Given the description of an element on the screen output the (x, y) to click on. 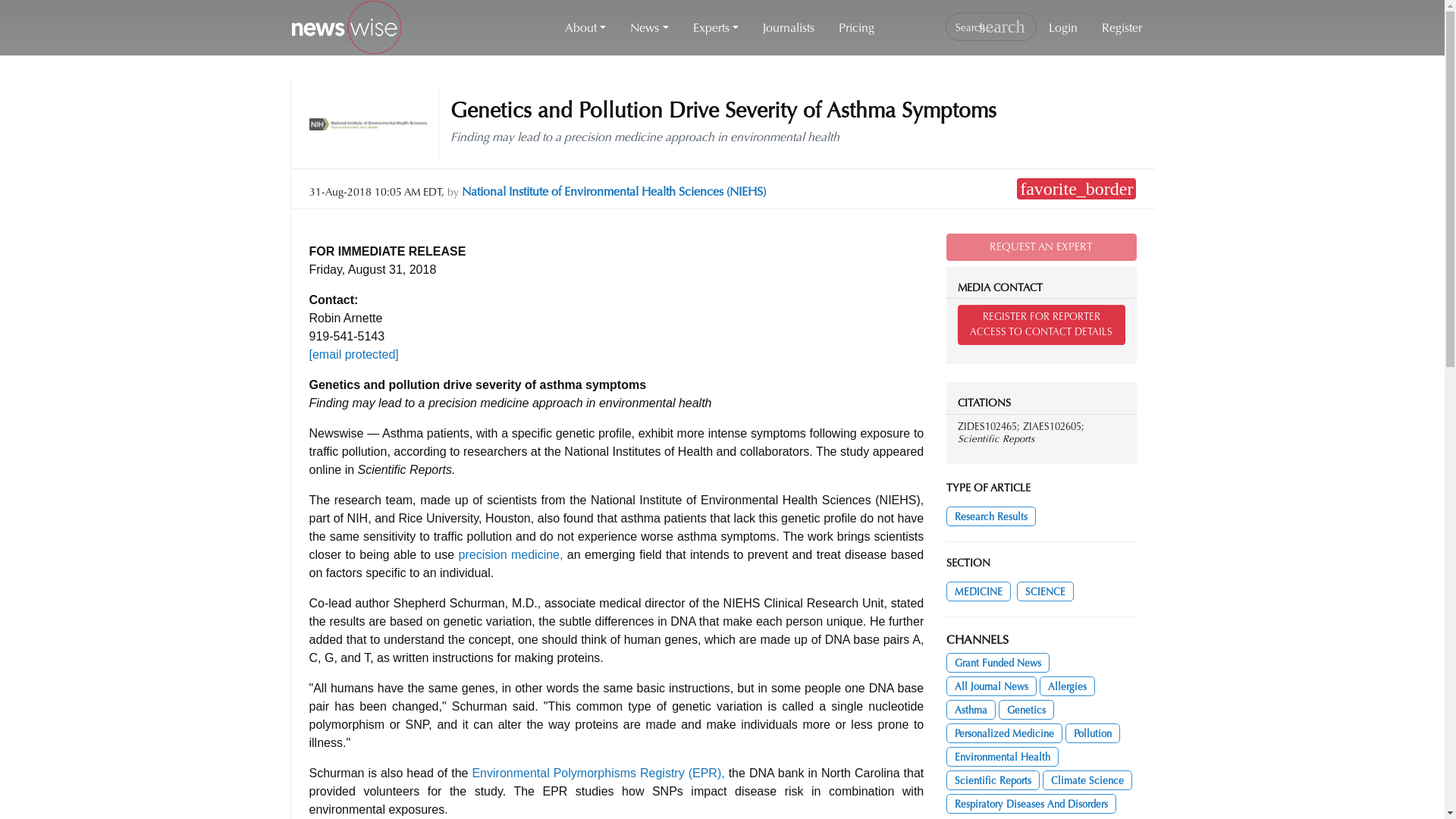
Show all articles in this channel (978, 591)
Show all articles in this channel (991, 686)
Add to Favorites (1075, 188)
Research Results (990, 516)
News (648, 27)
Newswise logo (345, 28)
Show all articles in this channel (1045, 591)
About (585, 27)
Show all articles in this channel (997, 662)
